Given the description of an element on the screen output the (x, y) to click on. 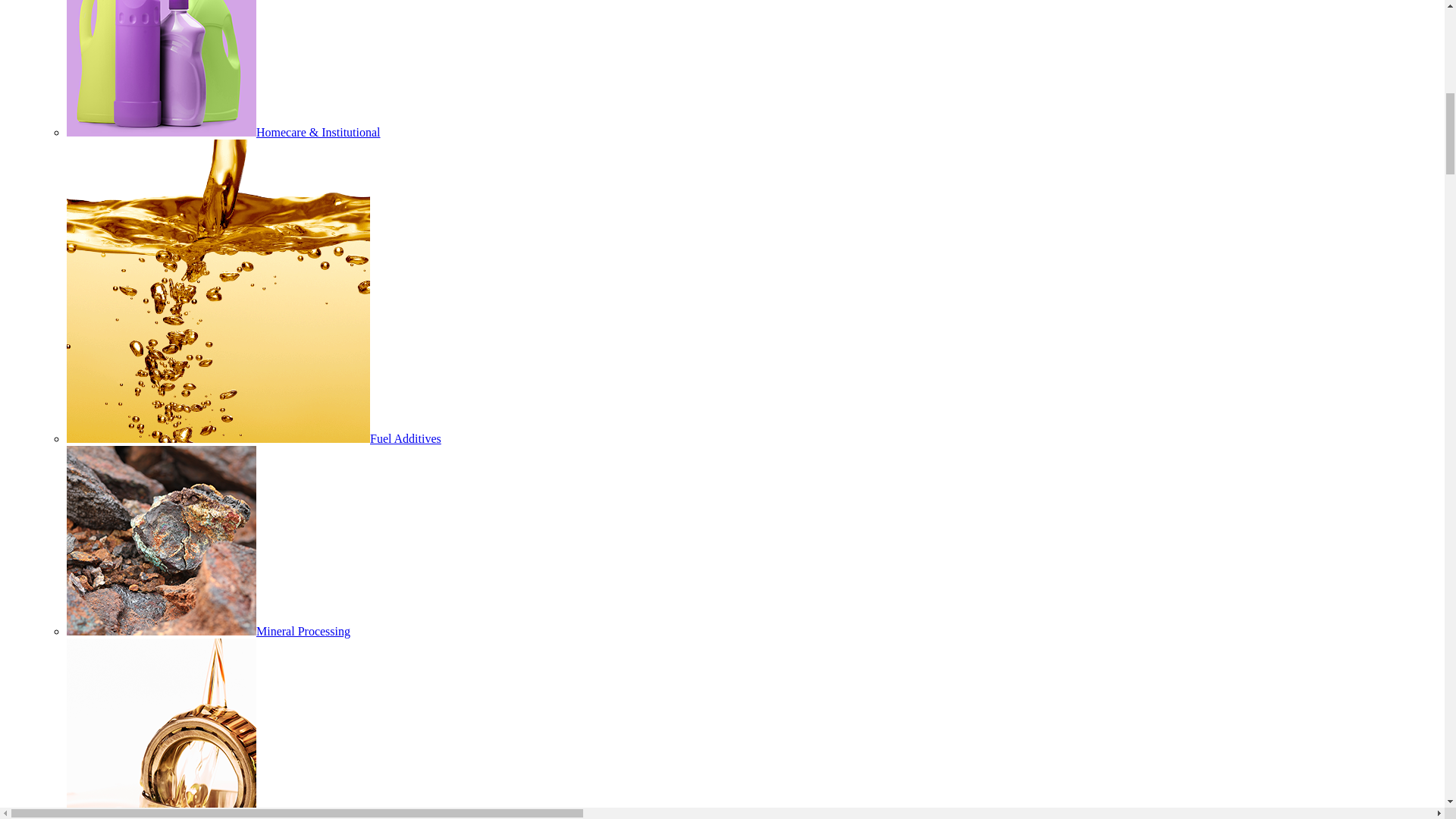
Fuel Additives (253, 438)
Mineral Processing (208, 631)
